Given the description of an element on the screen output the (x, y) to click on. 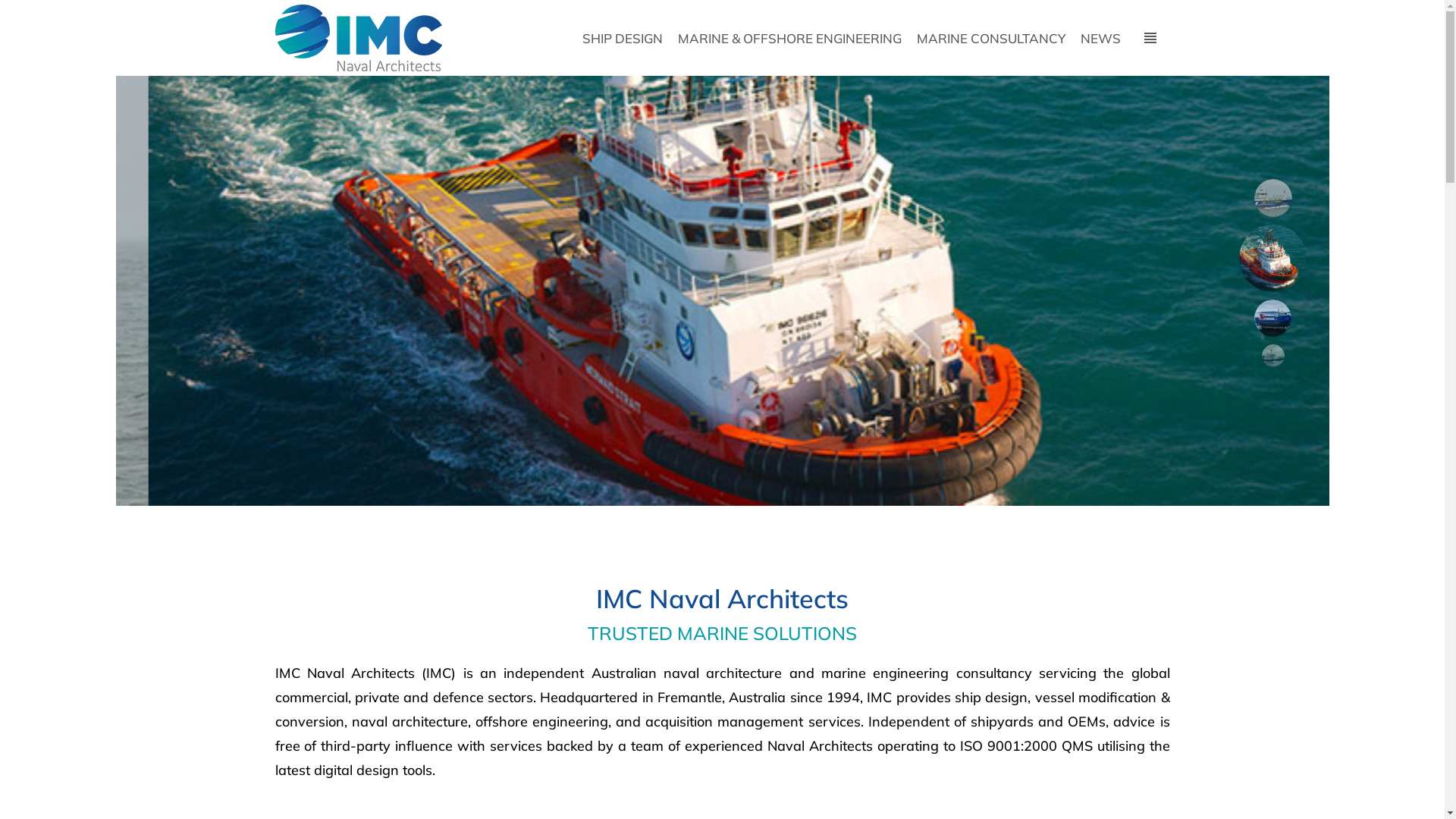
SHIP DESIGN Element type: text (622, 37)
MARINE & OFFSHORE ENGINEERING Element type: text (789, 37)
NEWS Element type: text (1100, 37)
MARINE CONSULTANCY Element type: text (991, 37)
